Given the description of an element on the screen output the (x, y) to click on. 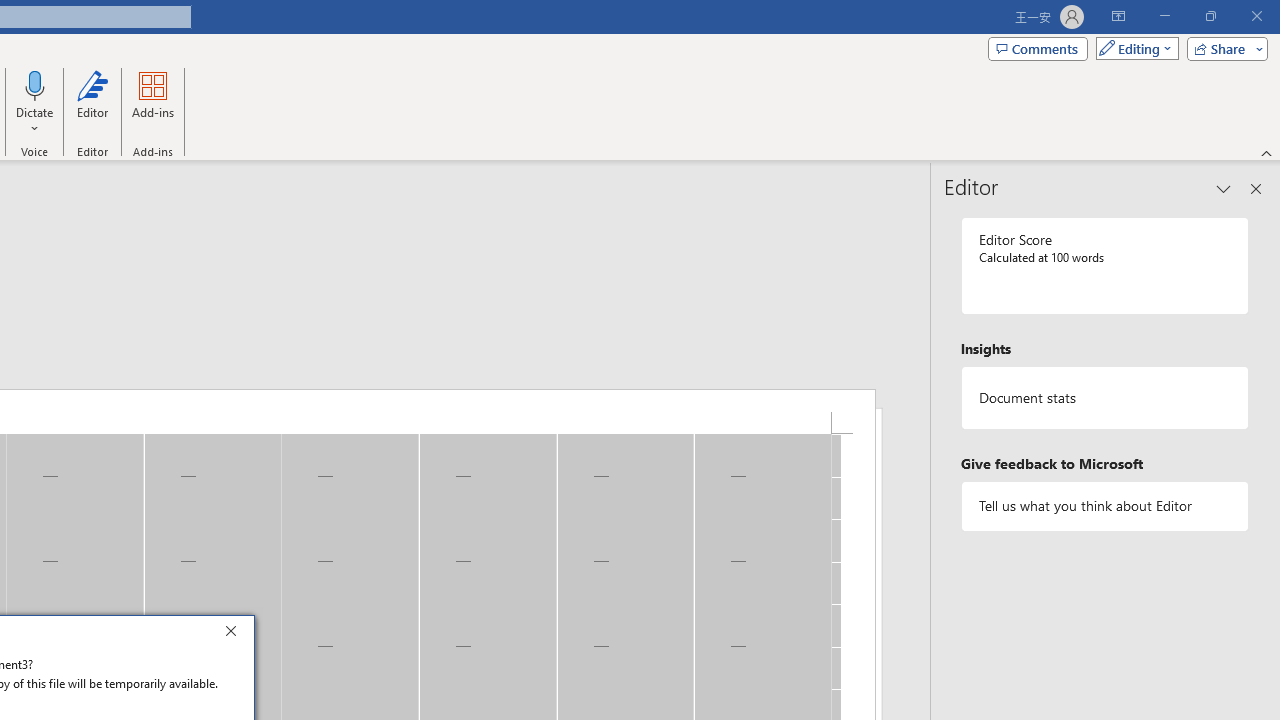
Document statistics (1105, 398)
Close pane (1256, 188)
Task Pane Options (1224, 188)
Minimize (1164, 16)
